Given the description of an element on the screen output the (x, y) to click on. 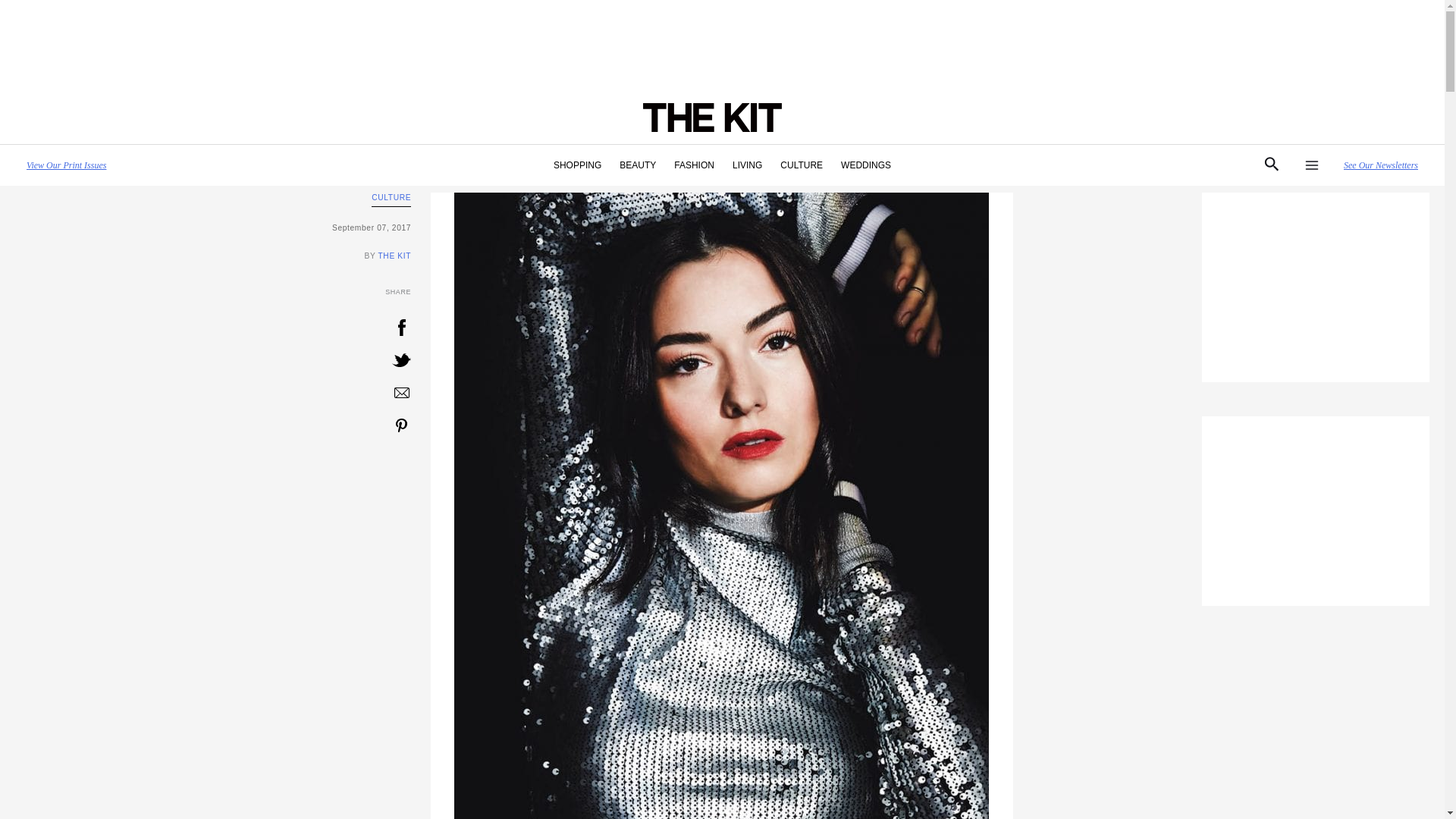
View Our Print Issues (66, 164)
BEAUTY (637, 164)
September 07, 2017 (212, 227)
FASHION (694, 164)
SHOPPING (577, 164)
